Given the description of an element on the screen output the (x, y) to click on. 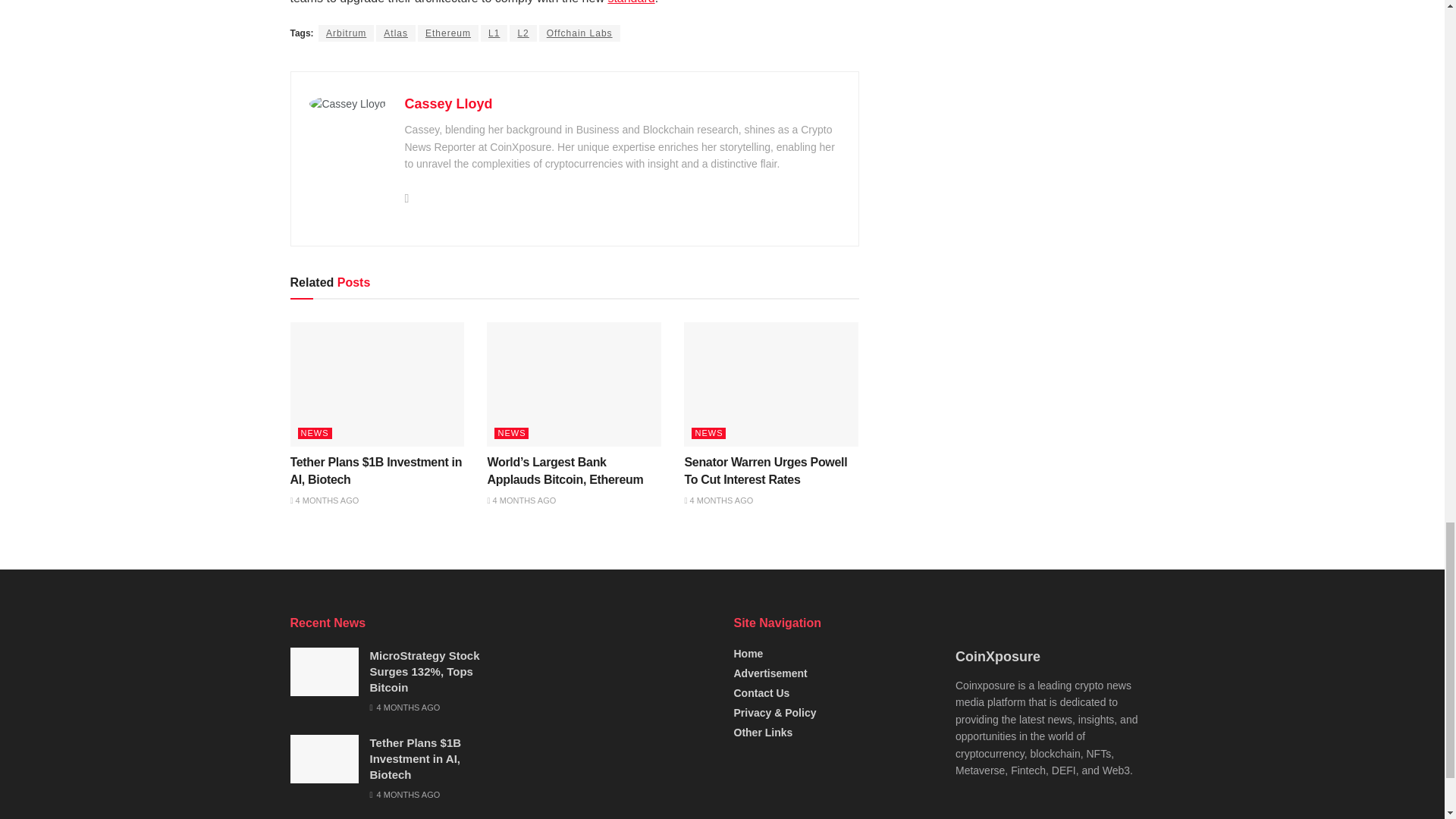
World's Largest Bank Applauds Bitcoin, Ethereum (573, 409)
Senator Warren Urges Powell To Cut Interest Rates (771, 409)
